Given the description of an element on the screen output the (x, y) to click on. 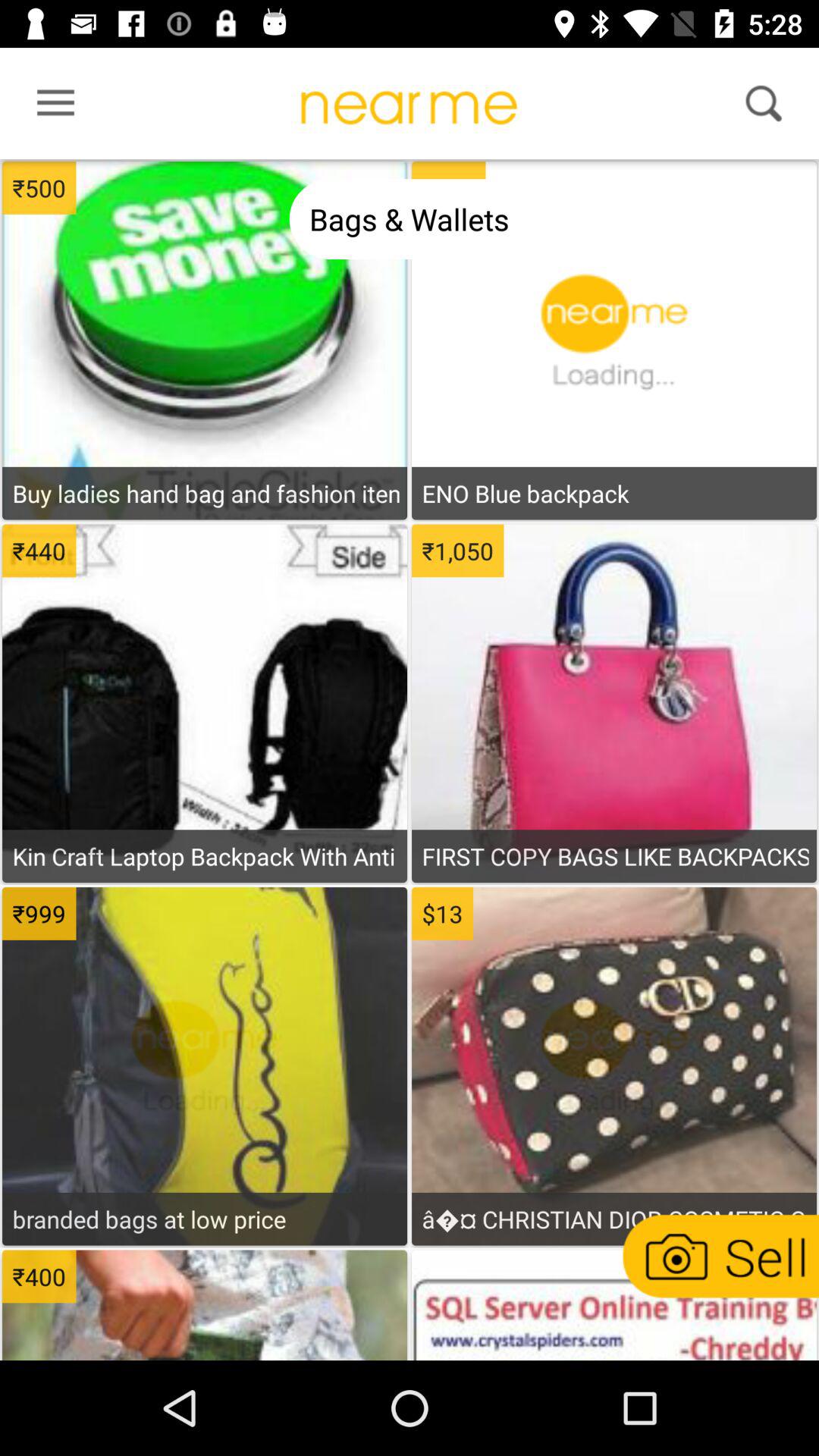
click for deal (205, 273)
